Given the description of an element on the screen output the (x, y) to click on. 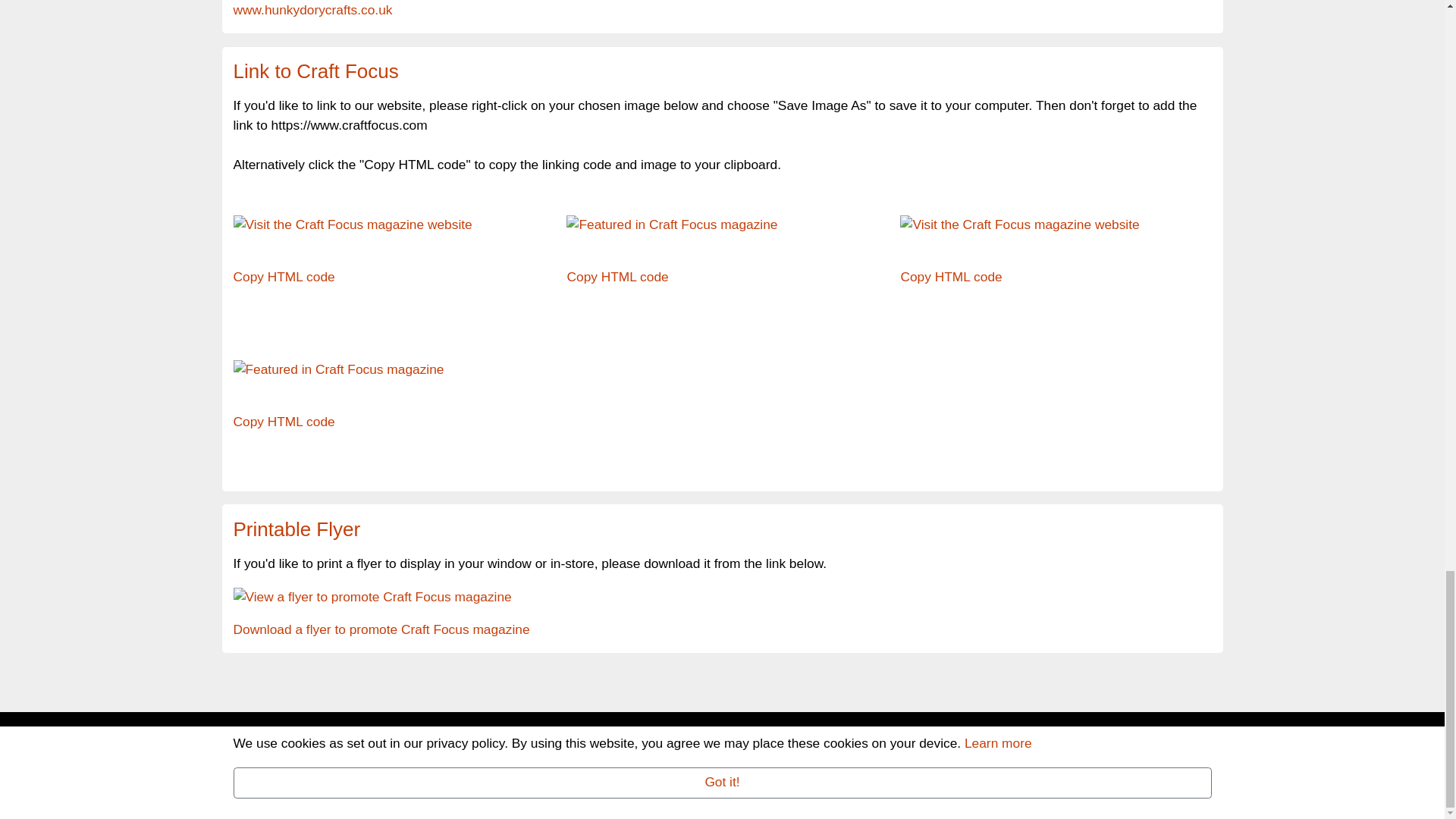
Visit the Craft Focus magazine website (351, 223)
Featured in Craft Focus magazine (671, 223)
Download a flyer to promote Craft Focus magazine (372, 595)
View a flyer to promote Craft Focus magazine (380, 629)
Visit the Craft Focus magazine website (1018, 223)
Featured in Craft Focus magazine (338, 368)
Email Ellis Media and Events Ltd (533, 775)
